Given the description of an element on the screen output the (x, y) to click on. 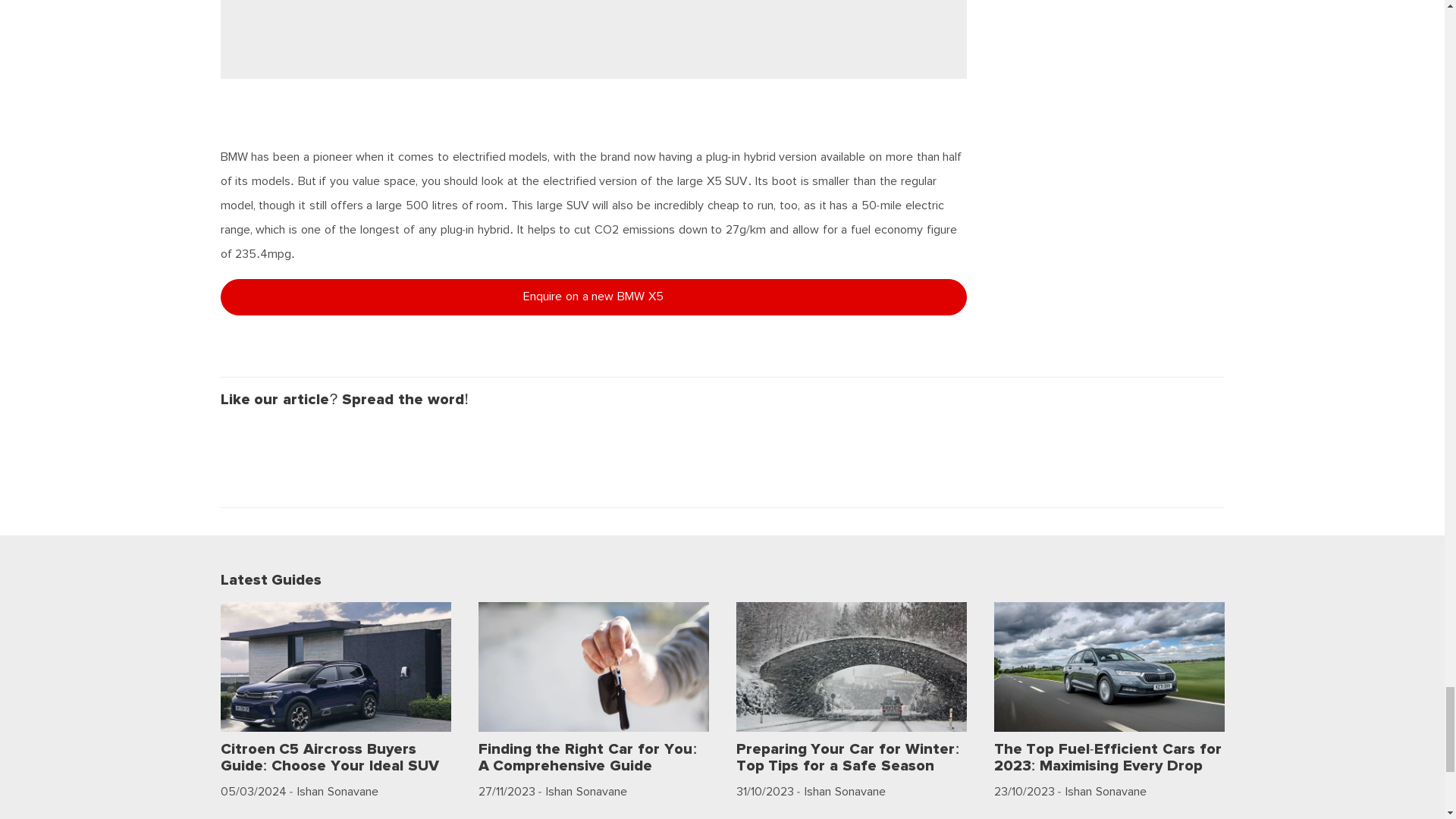
Share this on LinkedIn (344, 439)
Share this on Twitter (274, 439)
Share this on Facebook (237, 439)
Preparing Your Car for Winter: Top Tips for a Safe Season (850, 757)
Email (379, 439)
Finding the Right Car for You: A Comprehensive Guide (592, 757)
Enquire on a new BMW X5 (592, 297)
Citroen C5 Aircross Buyers Guide: Choose Your Ideal SUV (334, 757)
The Top Fuel-Efficient Cars for 2023: Maximising Every Drop (1108, 757)
